Given the description of an element on the screen output the (x, y) to click on. 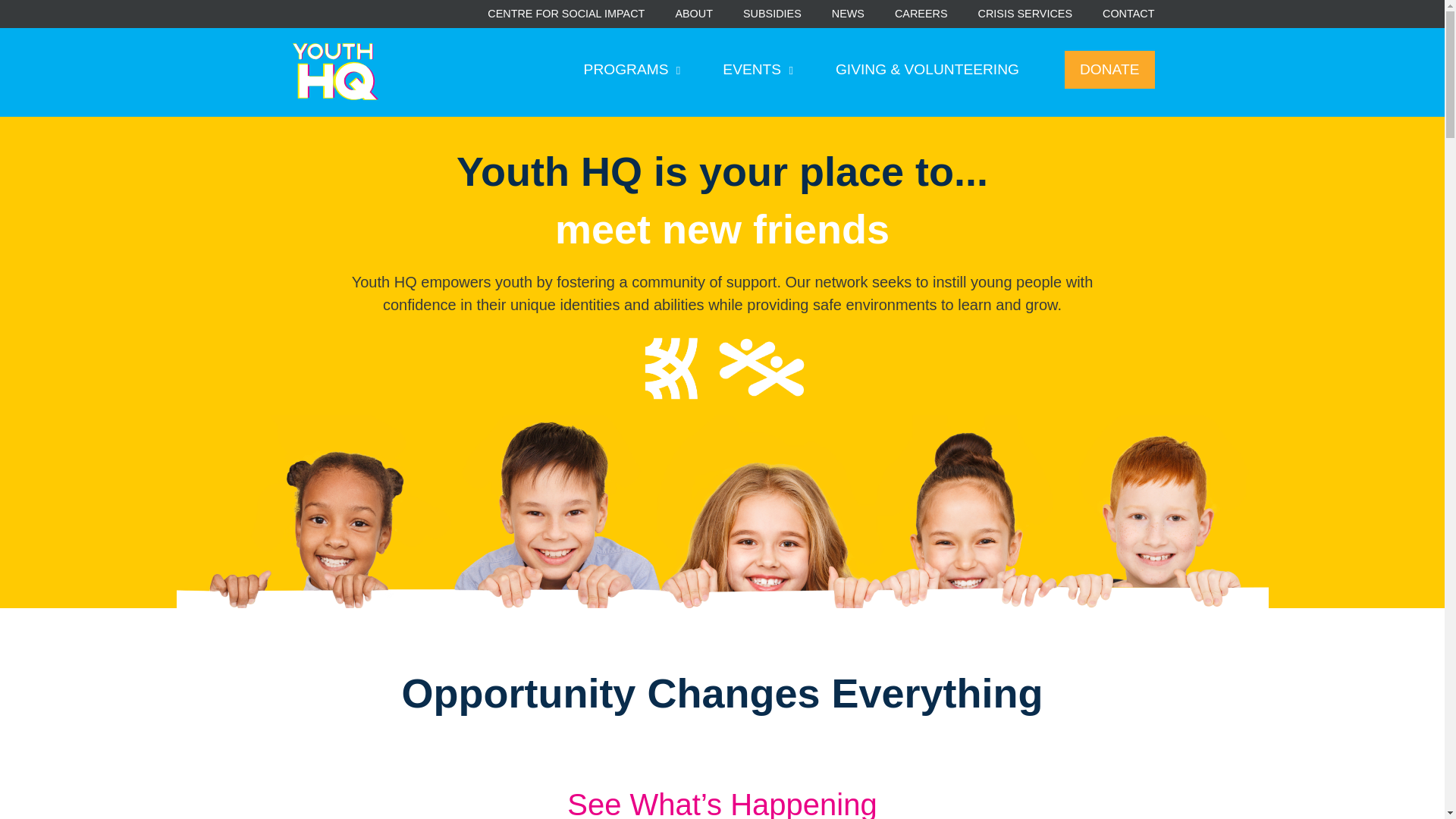
PROGRAMS (632, 69)
CONTACT (1128, 13)
NEWS (847, 13)
EVENTS (757, 69)
CAREERS (921, 13)
CRISIS SERVICES (1025, 13)
CENTRE FOR SOCIAL IMPACT (566, 13)
DONATE (1109, 69)
ABOUT (694, 13)
SUBSIDIES (772, 13)
